Given the description of an element on the screen output the (x, y) to click on. 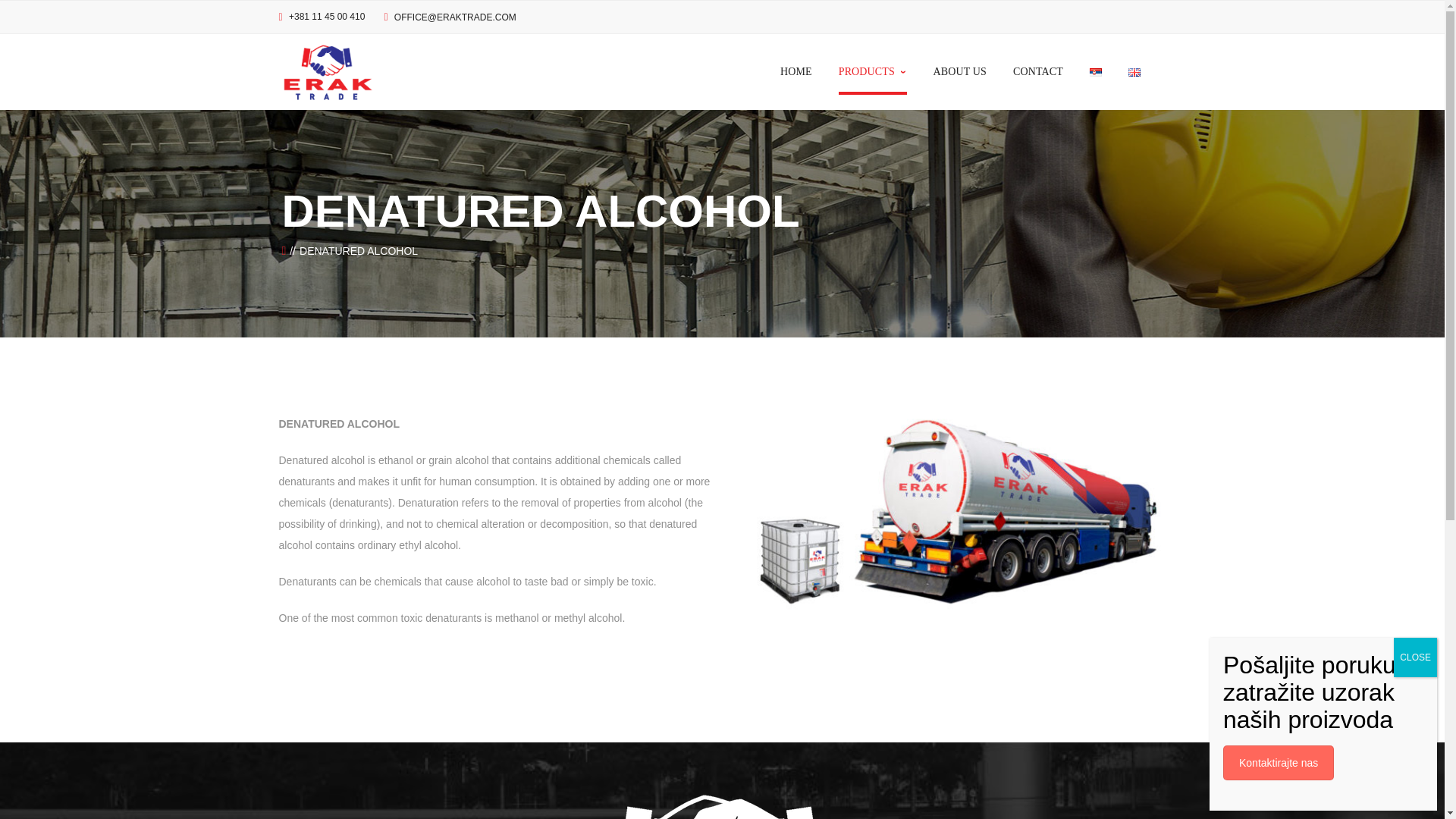
Kontaktirajte nas (1278, 762)
CLOSE (1415, 657)
CONTACT (1037, 72)
ABOUT US (960, 72)
PRODUCTS (872, 72)
